Given the description of an element on the screen output the (x, y) to click on. 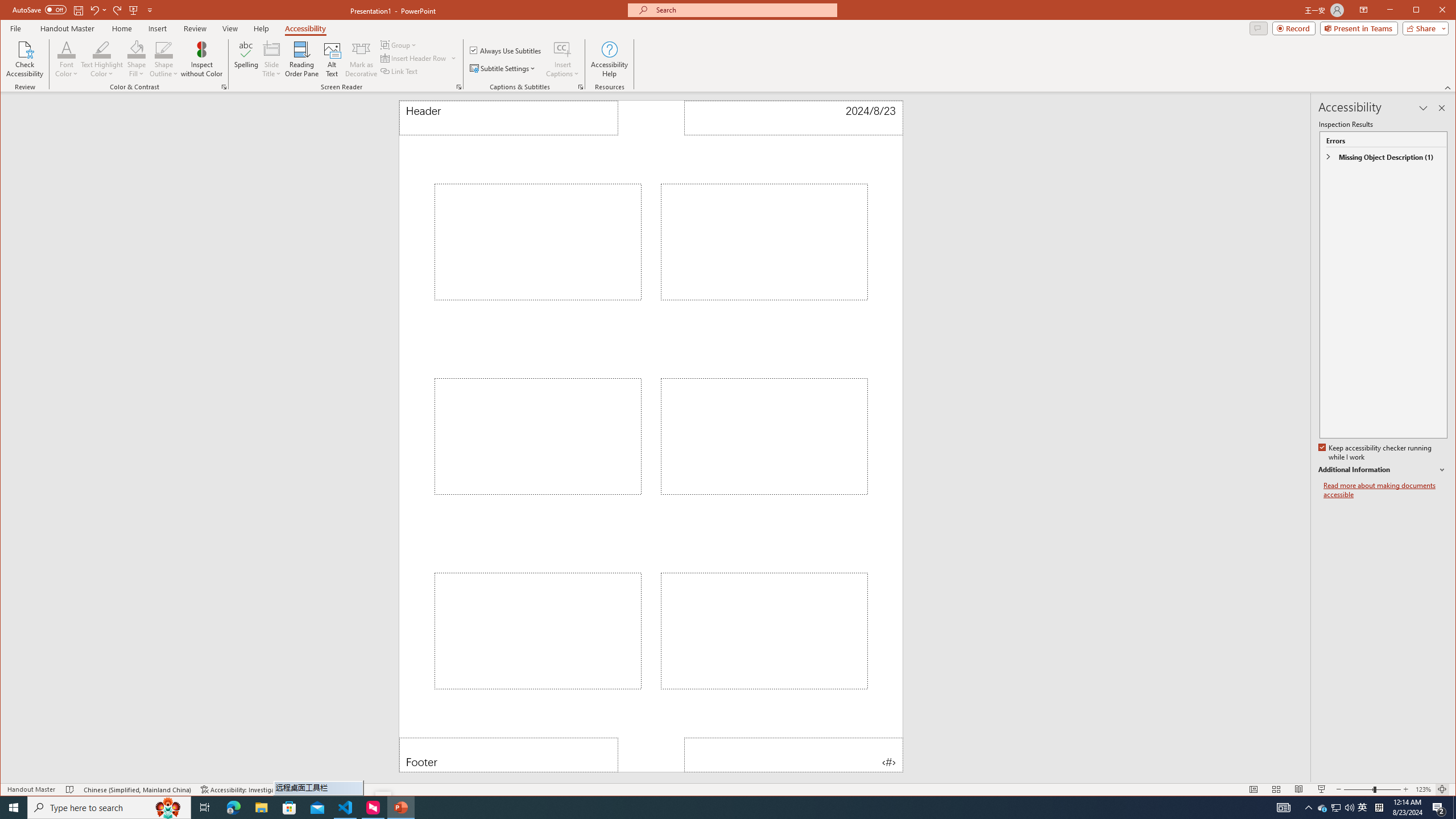
Insert Captions (562, 48)
Page Number (793, 754)
Subtitle Settings (502, 68)
Always Use Subtitles (505, 49)
Footer (508, 754)
